Given the description of an element on the screen output the (x, y) to click on. 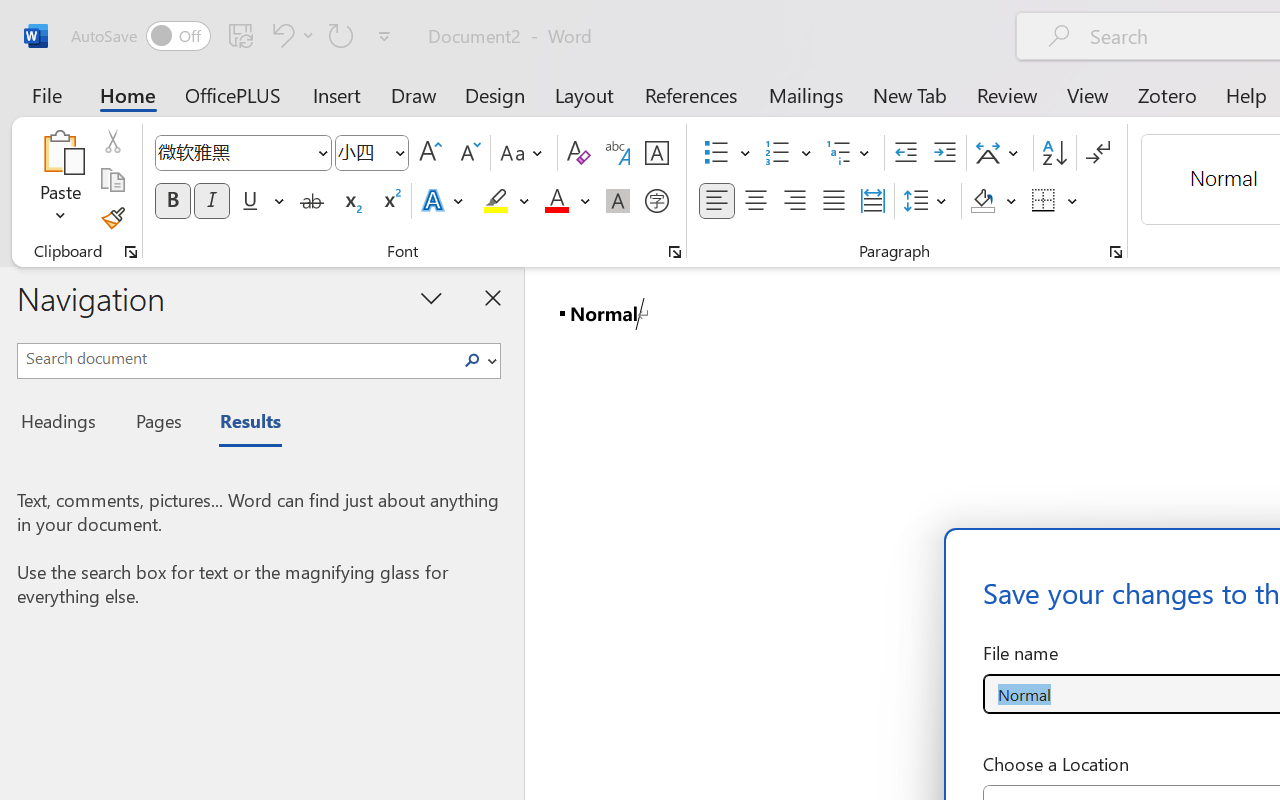
Results (240, 424)
Mailings (806, 94)
Copy (112, 179)
Subscript (350, 201)
Bold (172, 201)
Borders (1044, 201)
Task Pane Options (431, 297)
Font (234, 152)
Character Shading (618, 201)
Customize Quick Access Toolbar (384, 35)
Grow Font (430, 153)
New Tab (909, 94)
Strikethrough (312, 201)
Design (495, 94)
Align Right (794, 201)
